Given the description of an element on the screen output the (x, y) to click on. 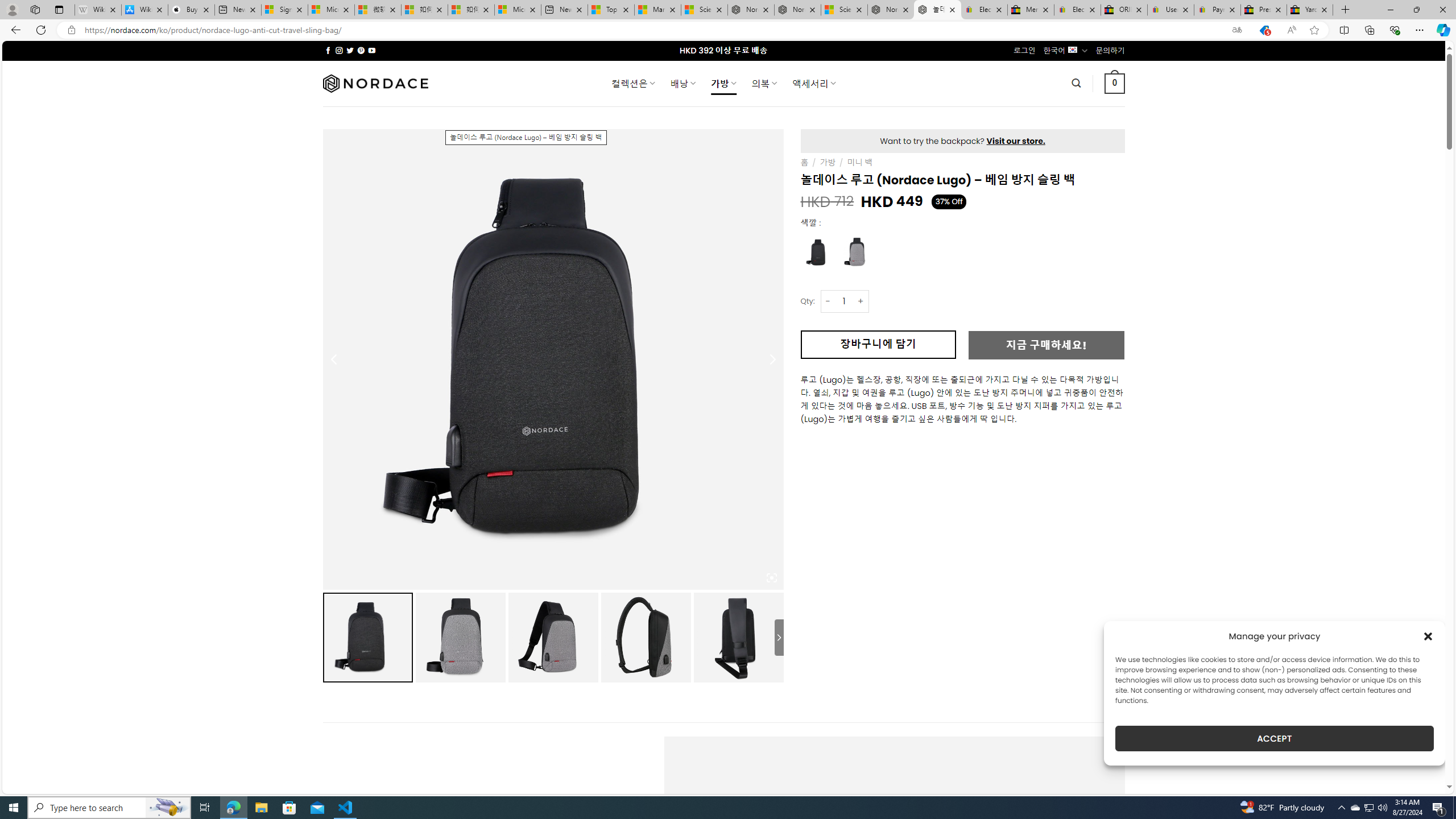
  0   (1115, 83)
